Given the description of an element on the screen output the (x, y) to click on. 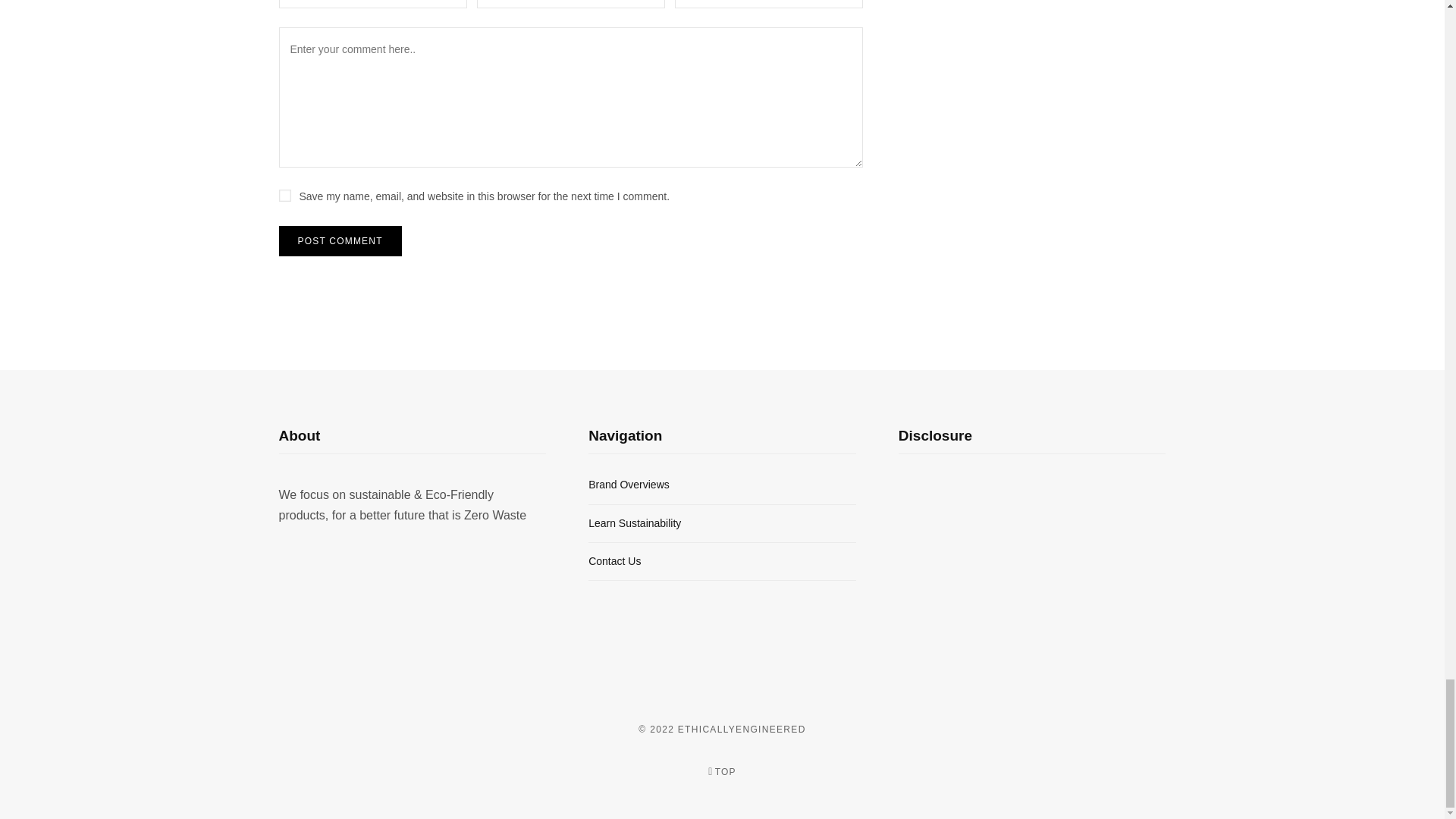
yes (285, 195)
Post Comment (340, 241)
